Given the description of an element on the screen output the (x, y) to click on. 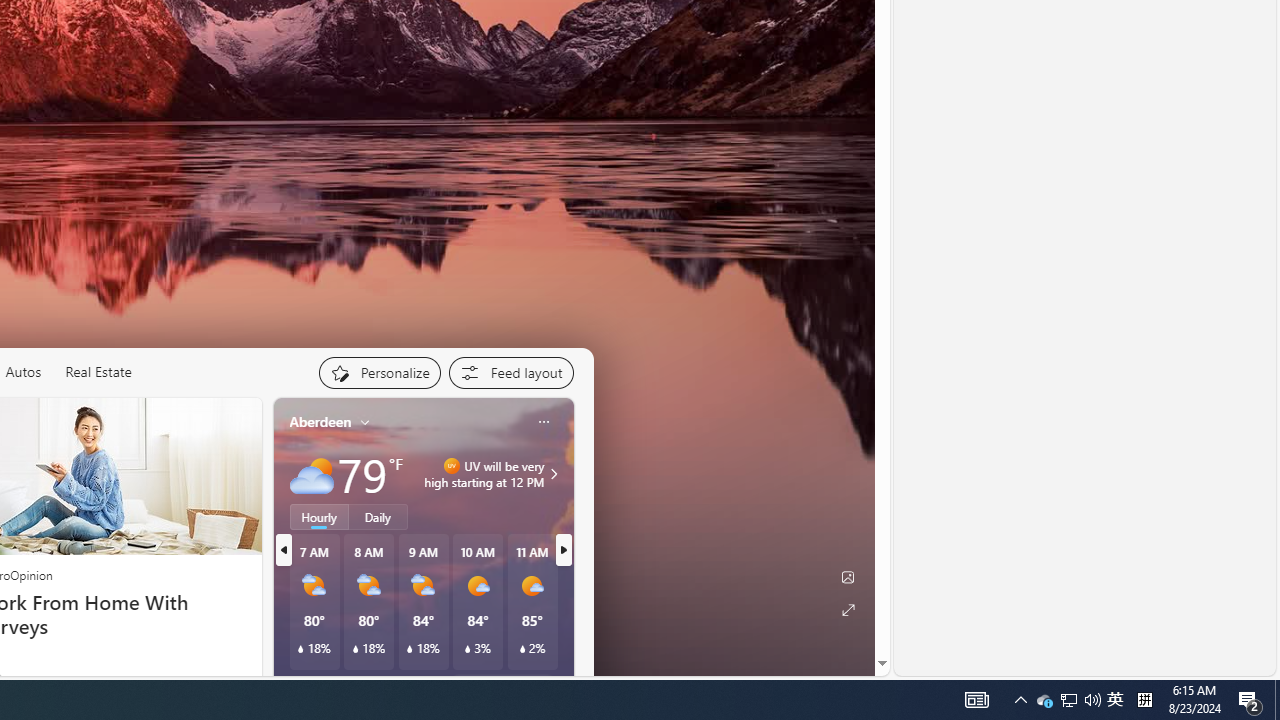
Real Estate (97, 372)
UV will be very high starting at 12 PM (551, 474)
